Given the description of an element on the screen output the (x, y) to click on. 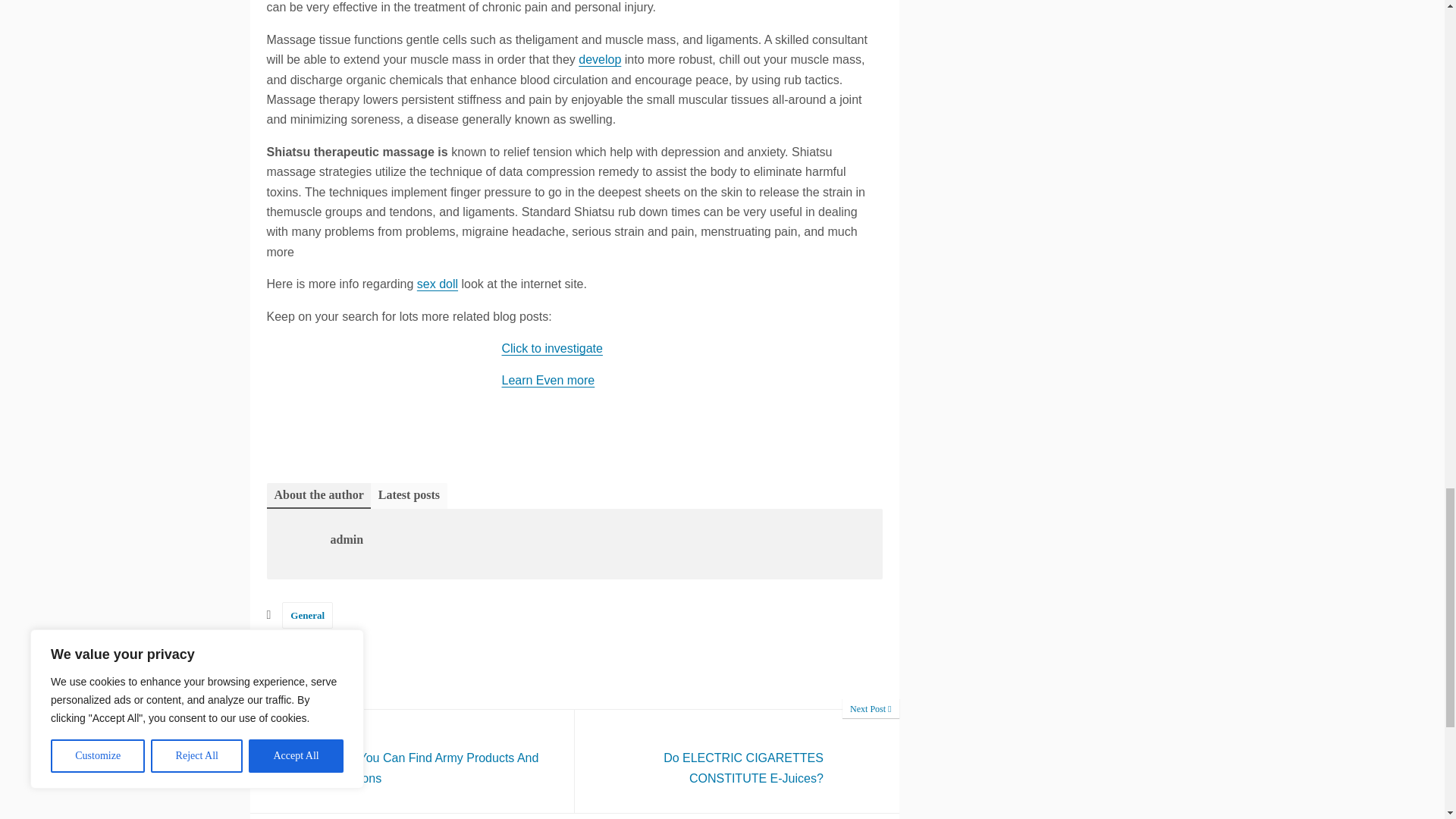
How You Can Find Army Products And Solutions (412, 761)
Do ELECTRIC CIGARETTES CONSTITUTE E-Juices? (412, 761)
Learn Even more (737, 761)
sex doll (548, 379)
Best (437, 283)
develop (299, 672)
General (599, 59)
Click to investigate (737, 761)
